Given the description of an element on the screen output the (x, y) to click on. 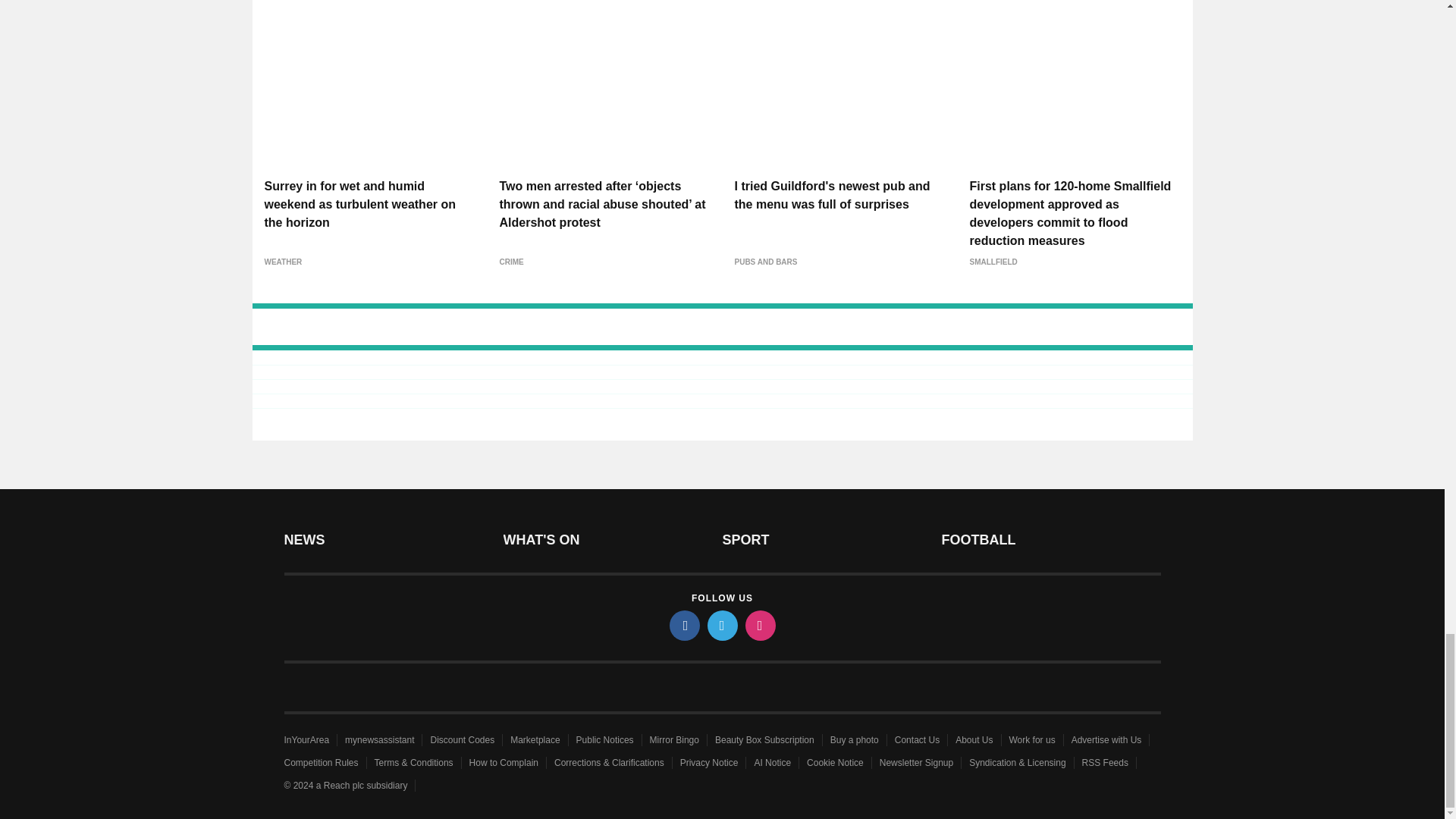
instagram (759, 625)
facebook (683, 625)
twitter (721, 625)
